Given the description of an element on the screen output the (x, y) to click on. 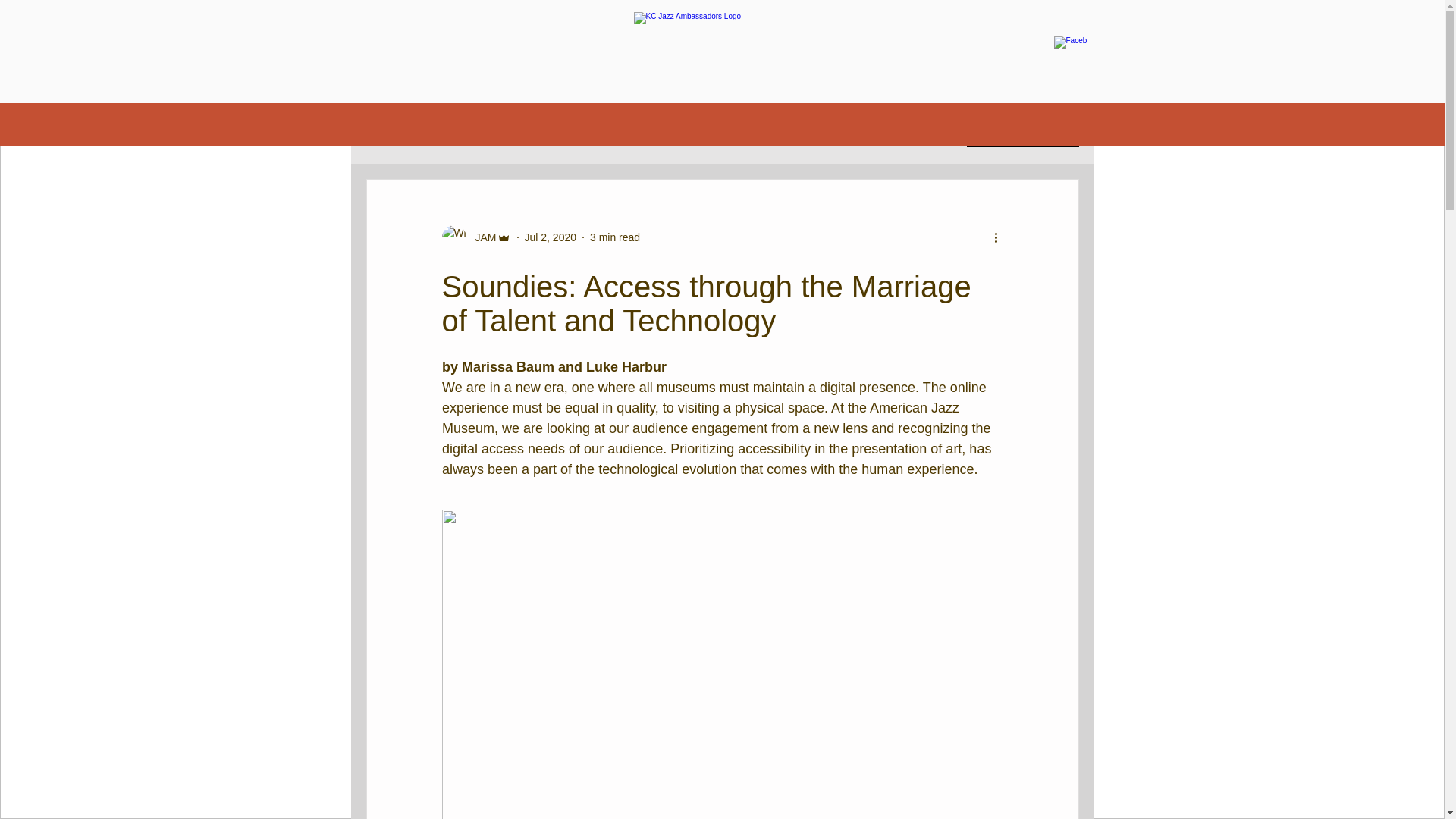
Book Reviews (723, 133)
Features (467, 133)
Jul 2, 2020 (550, 236)
KCJA Logo.png (721, 51)
JAM (480, 236)
KCJA Blog (389, 133)
Jazz News (633, 133)
3 min read (614, 236)
CD Reviews (548, 133)
